Given the description of an element on the screen output the (x, y) to click on. 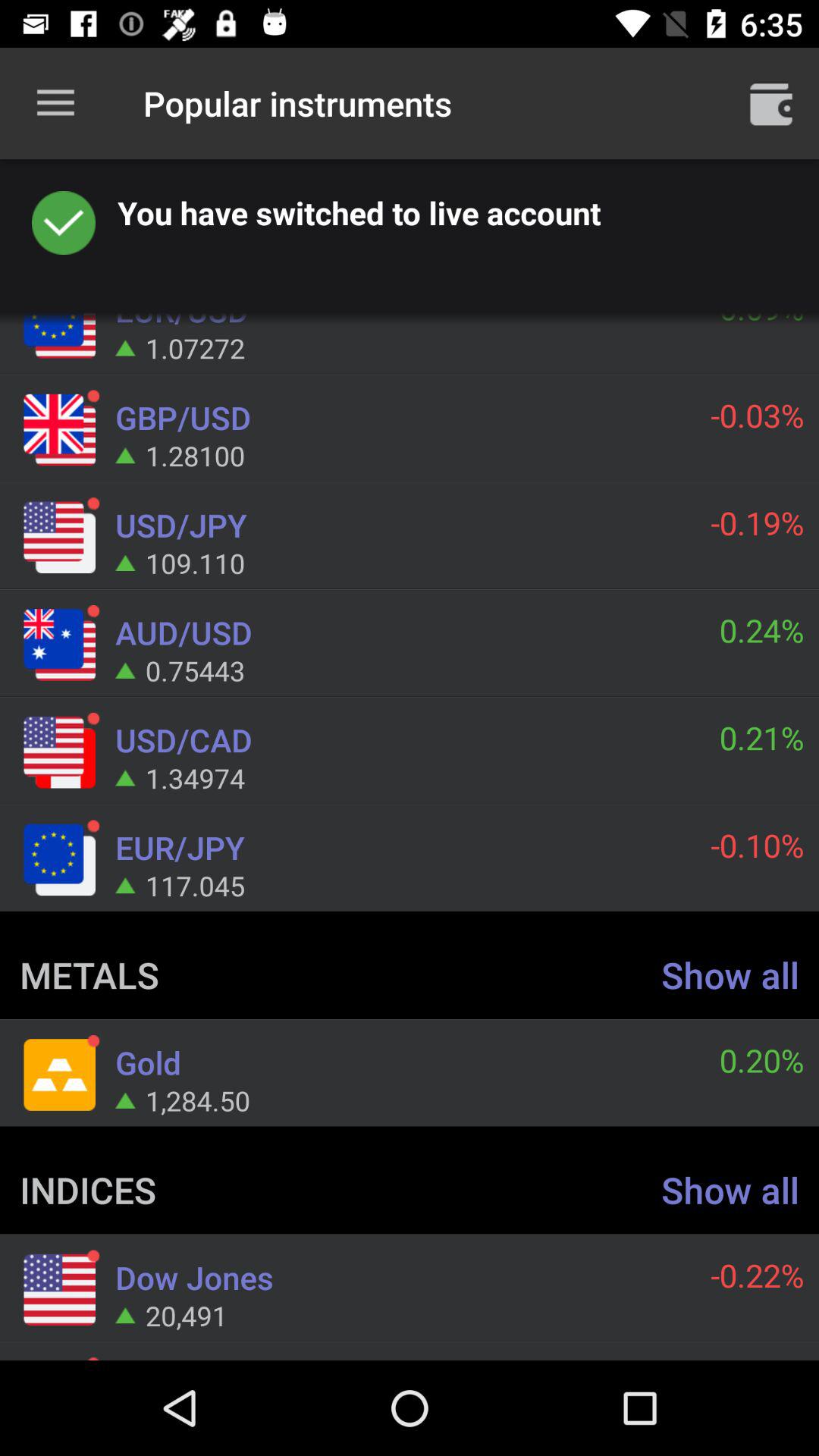
launch item next to popular instruments icon (55, 103)
